Given the description of an element on the screen output the (x, y) to click on. 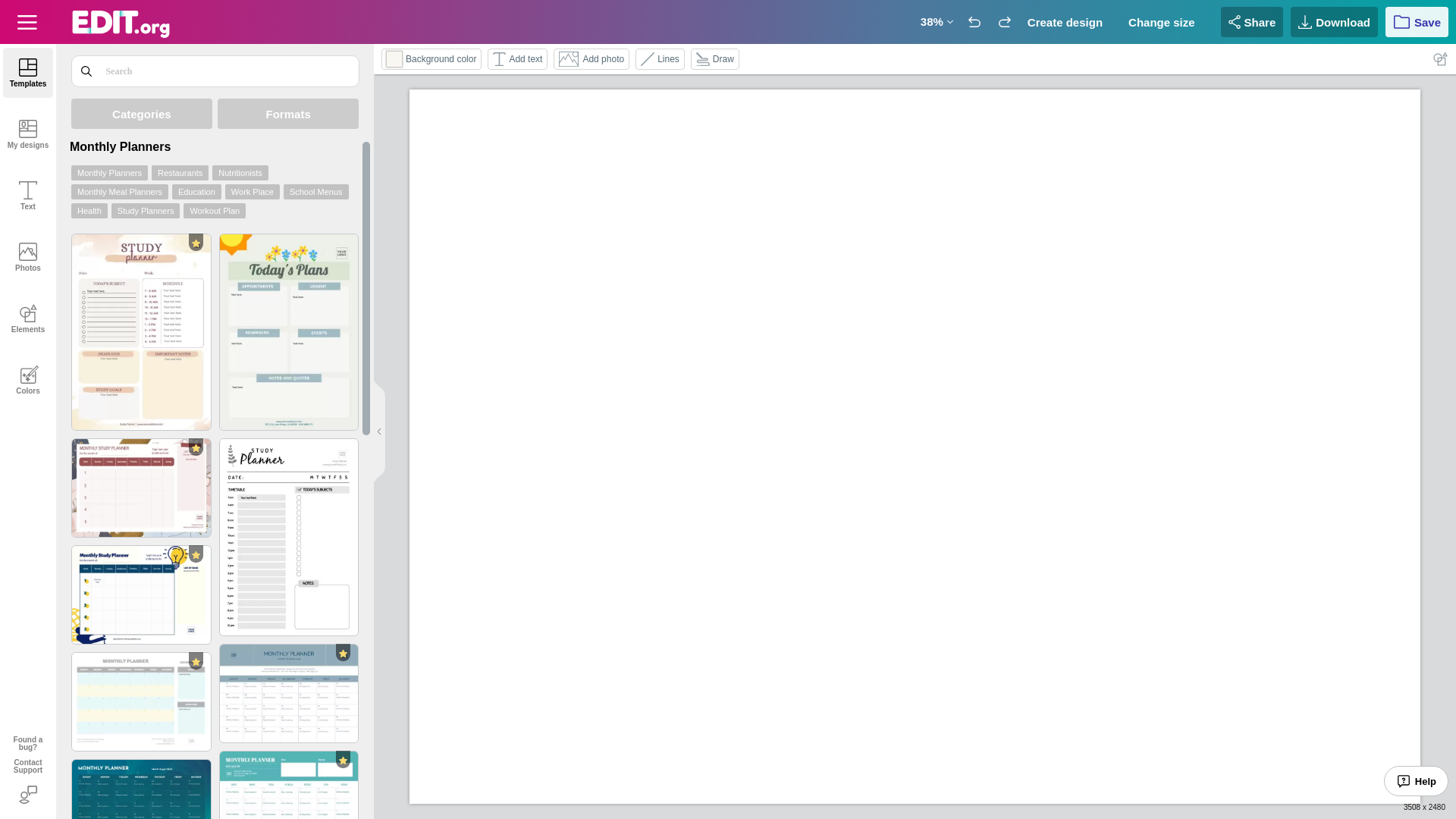
Create design (1070, 21)
Change size (1166, 21)
Help (1416, 780)
Change text color (394, 58)
Here are the designs you've saved. (28, 144)
